Given the description of an element on the screen output the (x, y) to click on. 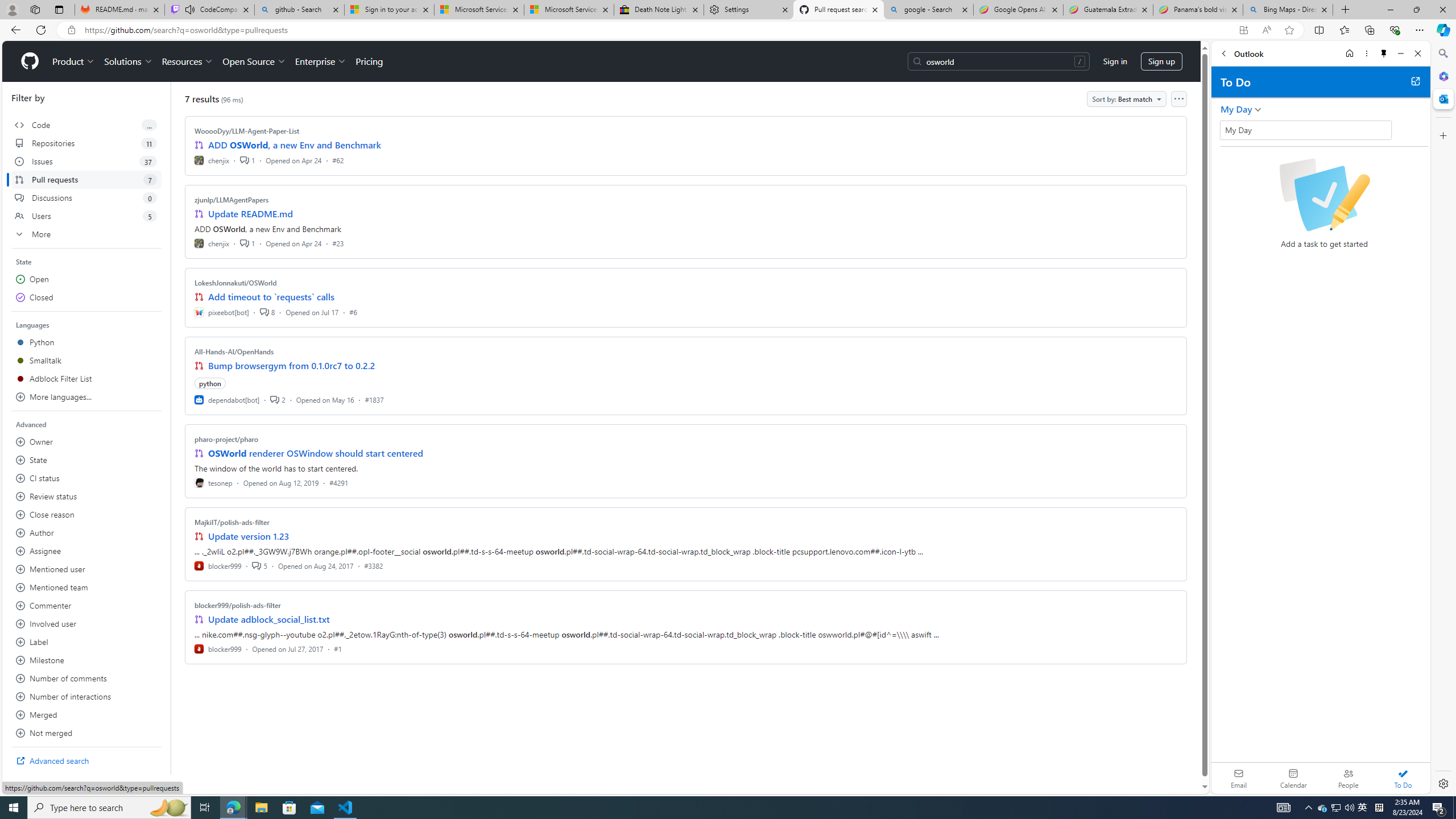
Pricing (368, 60)
#4291 (338, 482)
#62 (337, 159)
#3382 (373, 565)
Enterprise (319, 60)
#1 (337, 648)
Open Source (254, 60)
blocker999 (218, 648)
Google Opens AI Academy for Startups - Nearshore Americas (1018, 9)
